Given the description of an element on the screen output the (x, y) to click on. 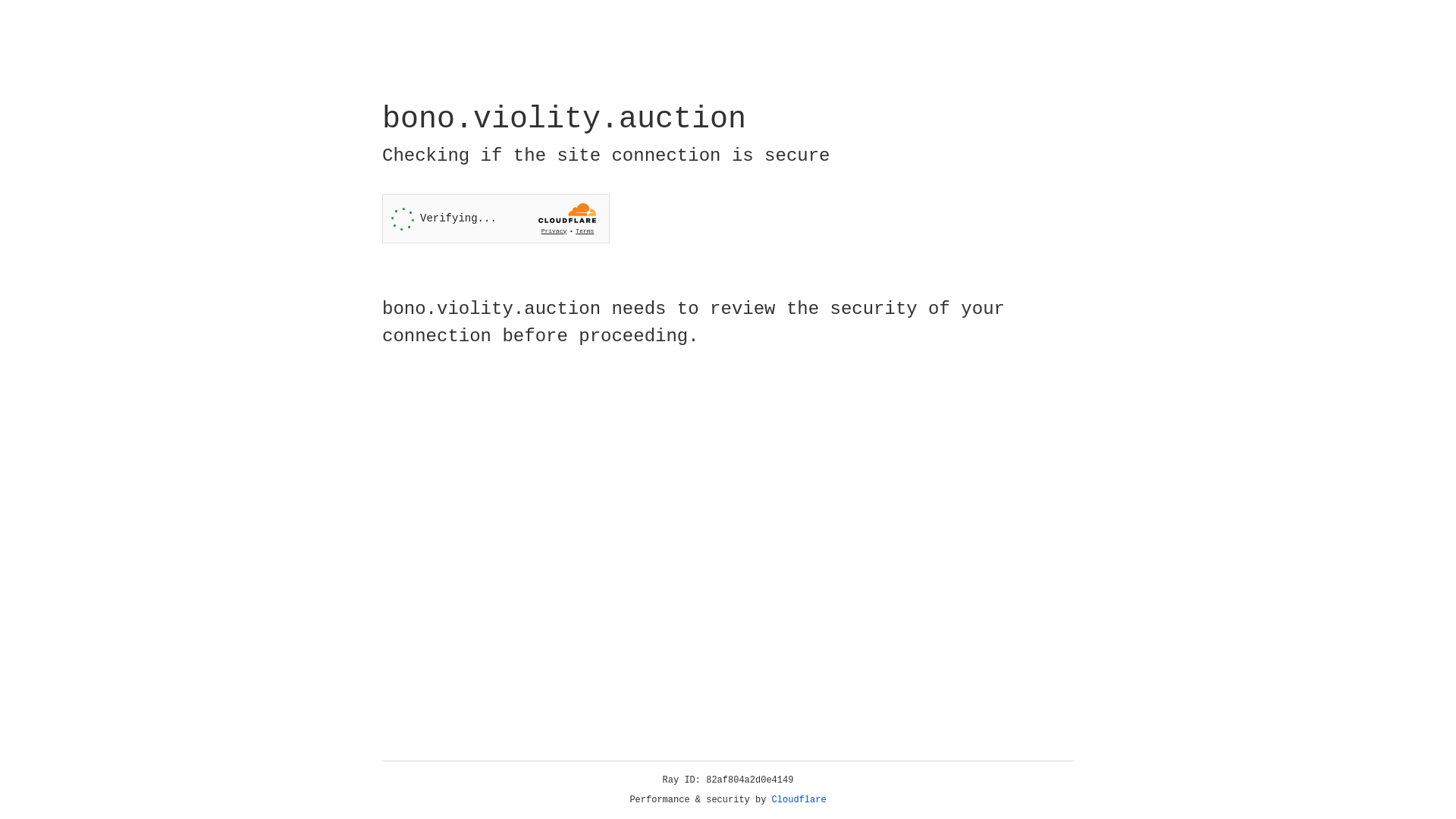
Cloudflare Element type: text (798, 799)
Widget containing a Cloudflare security challenge Element type: hover (495, 218)
